Given the description of an element on the screen output the (x, y) to click on. 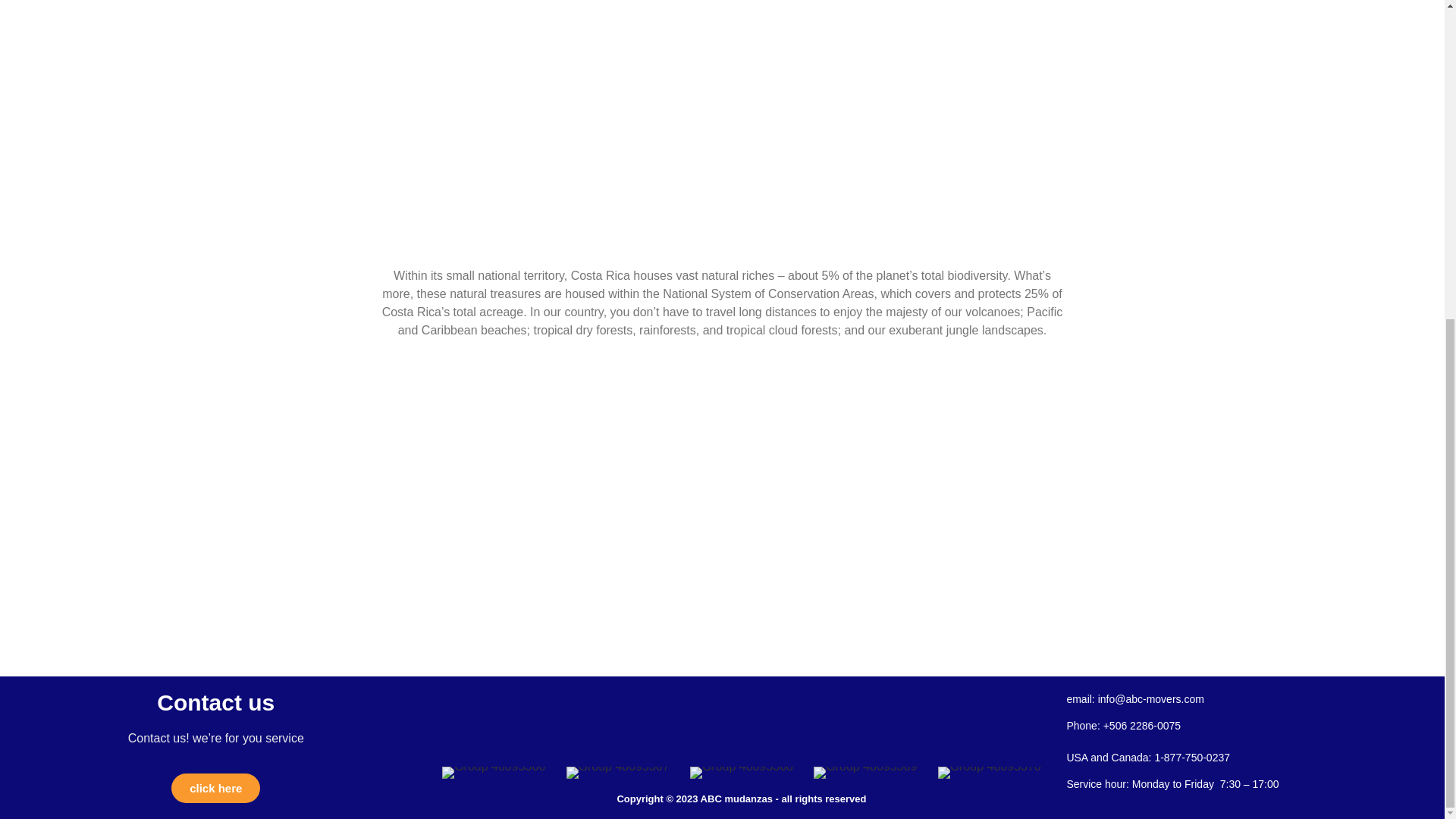
click here (215, 788)
